Given the description of an element on the screen output the (x, y) to click on. 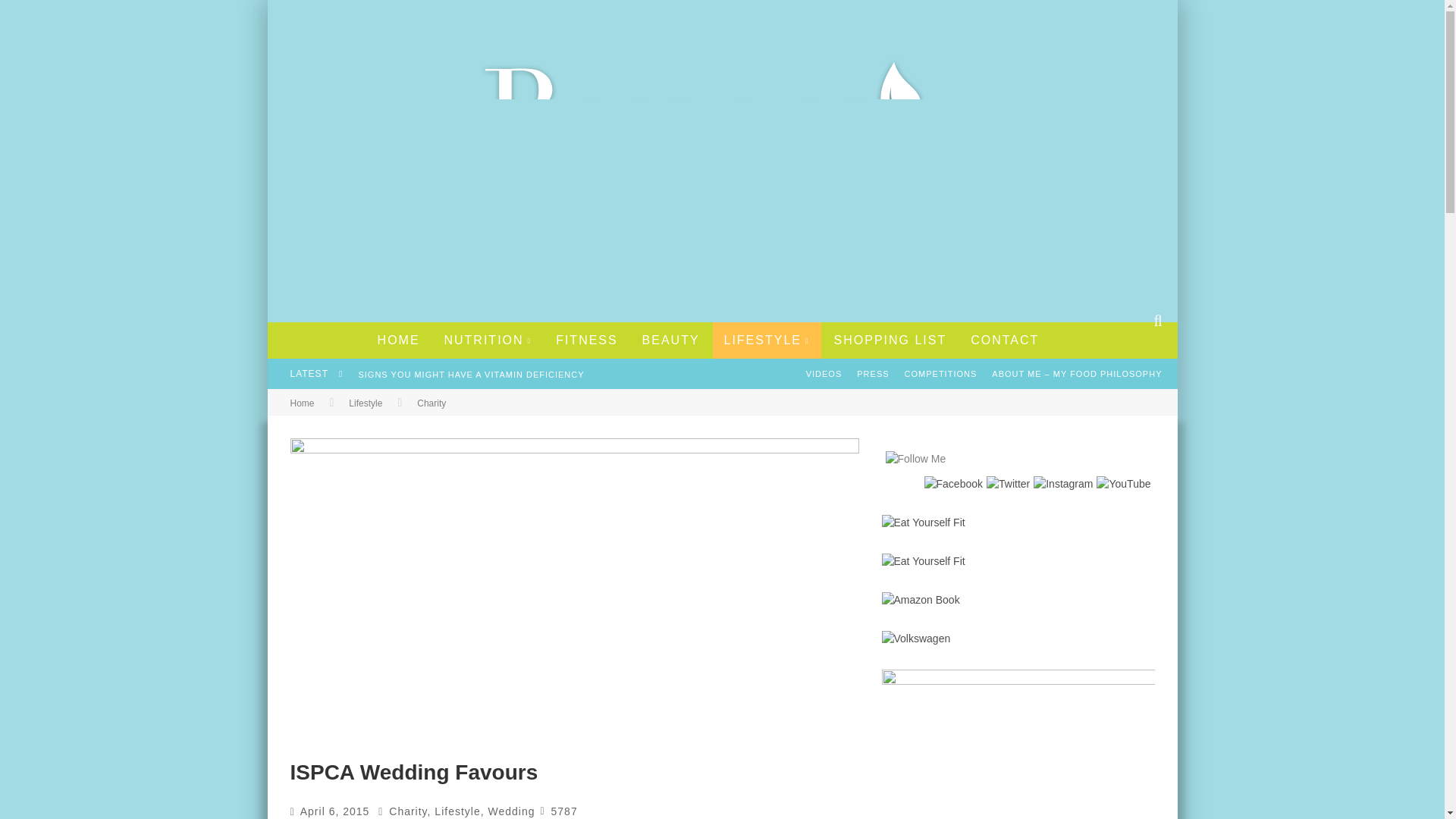
Follow Me On: YouTube (1123, 483)
Signs you Might have a Vitamin Deficiency (470, 374)
Follow Me On: Facebook (953, 483)
View all posts in Lifestyle (456, 811)
View all posts in Charity (430, 403)
View all posts in Wedding (511, 811)
NUTRITION (487, 340)
Follow Me On: Instagram (1063, 483)
View all posts in Lifestyle (365, 403)
Follow Me On: Twitter (1008, 483)
View all posts in Charity (407, 811)
HOME (398, 340)
FITNESS (586, 340)
